Given the description of an element on the screen output the (x, y) to click on. 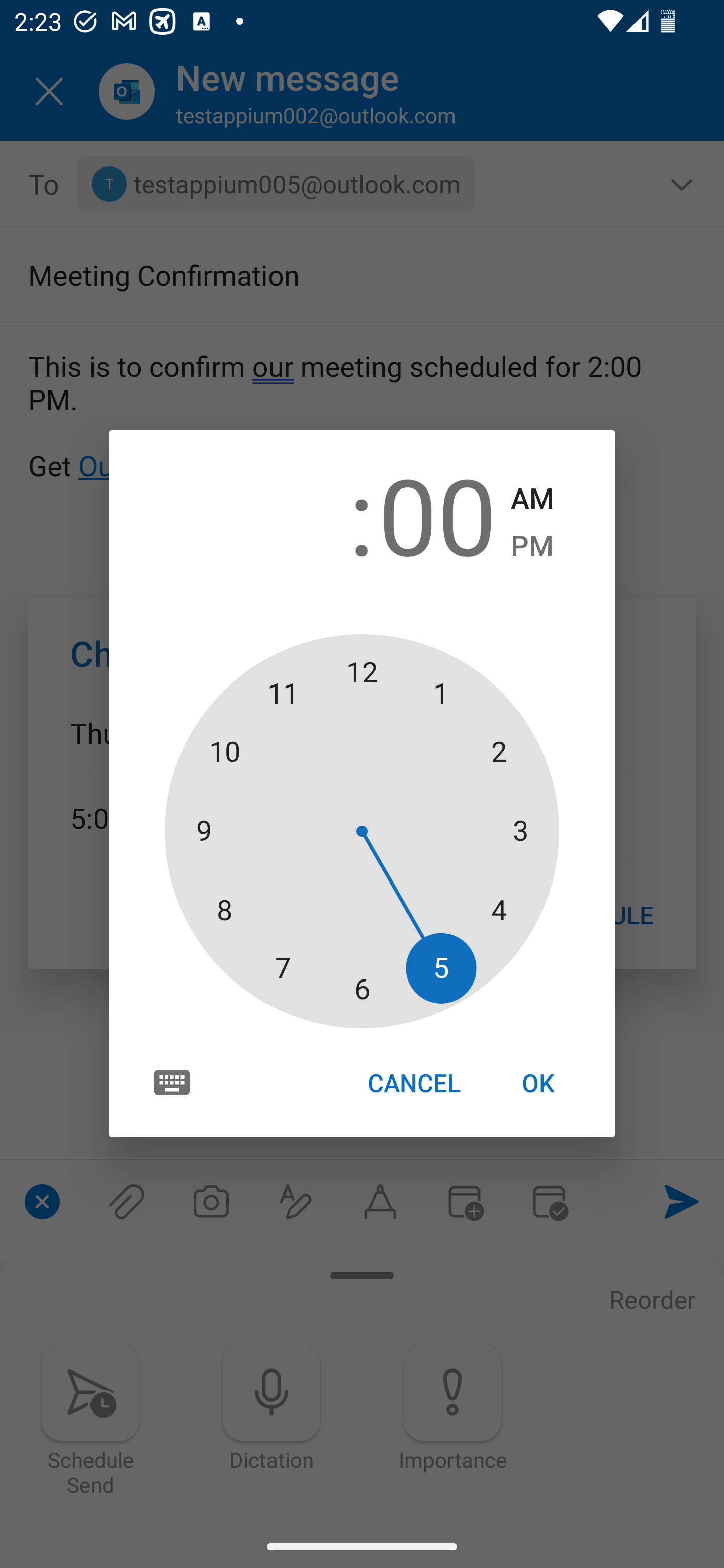
5 (285, 513)
00 (436, 513)
AM (532, 498)
PM (532, 546)
CANCEL (413, 1082)
OK (537, 1082)
Switch to text input mode for the time input. (171, 1081)
